Given the description of an element on the screen output the (x, y) to click on. 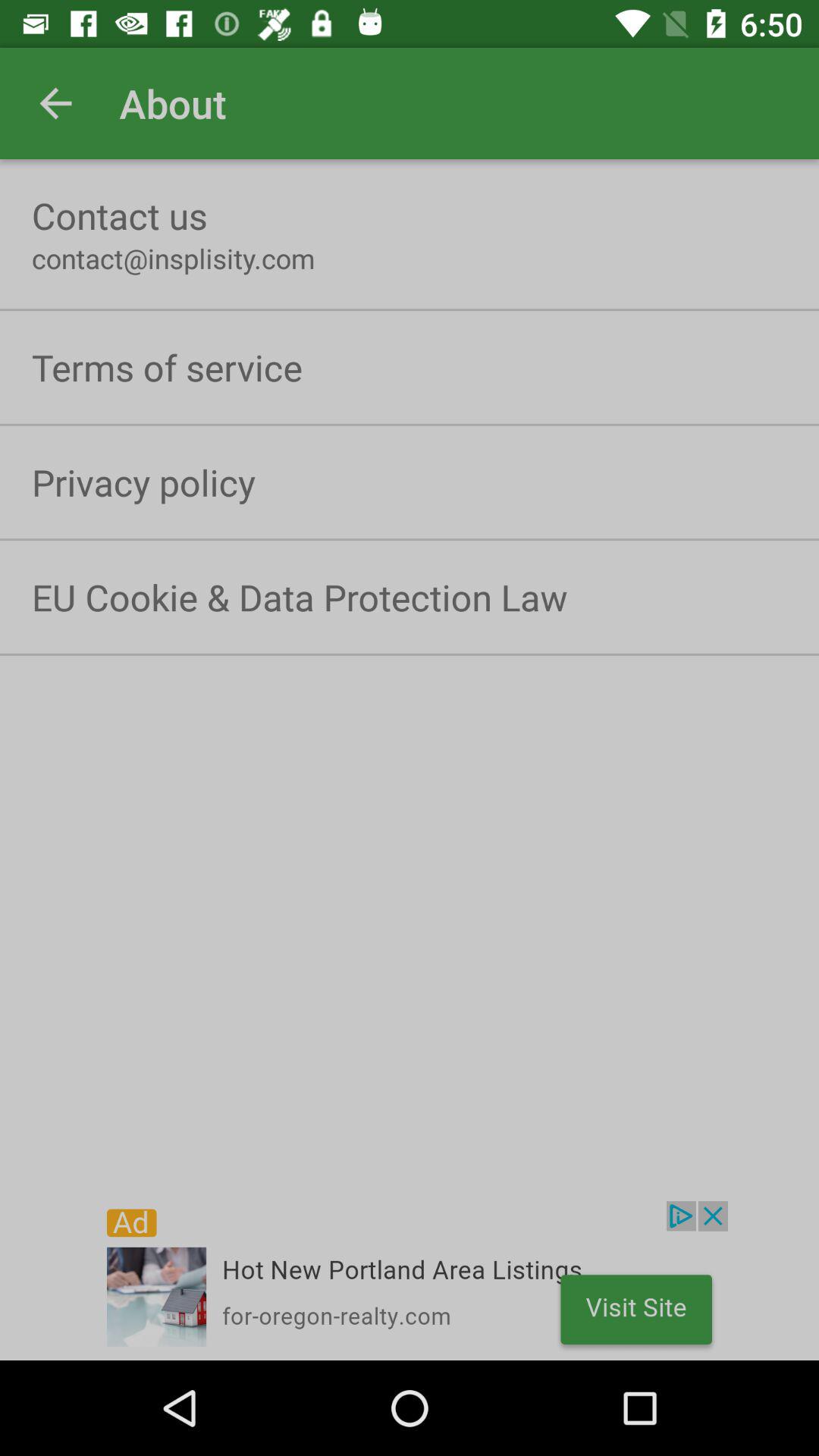
advertisements to watch (409, 1280)
